Given the description of an element on the screen output the (x, y) to click on. 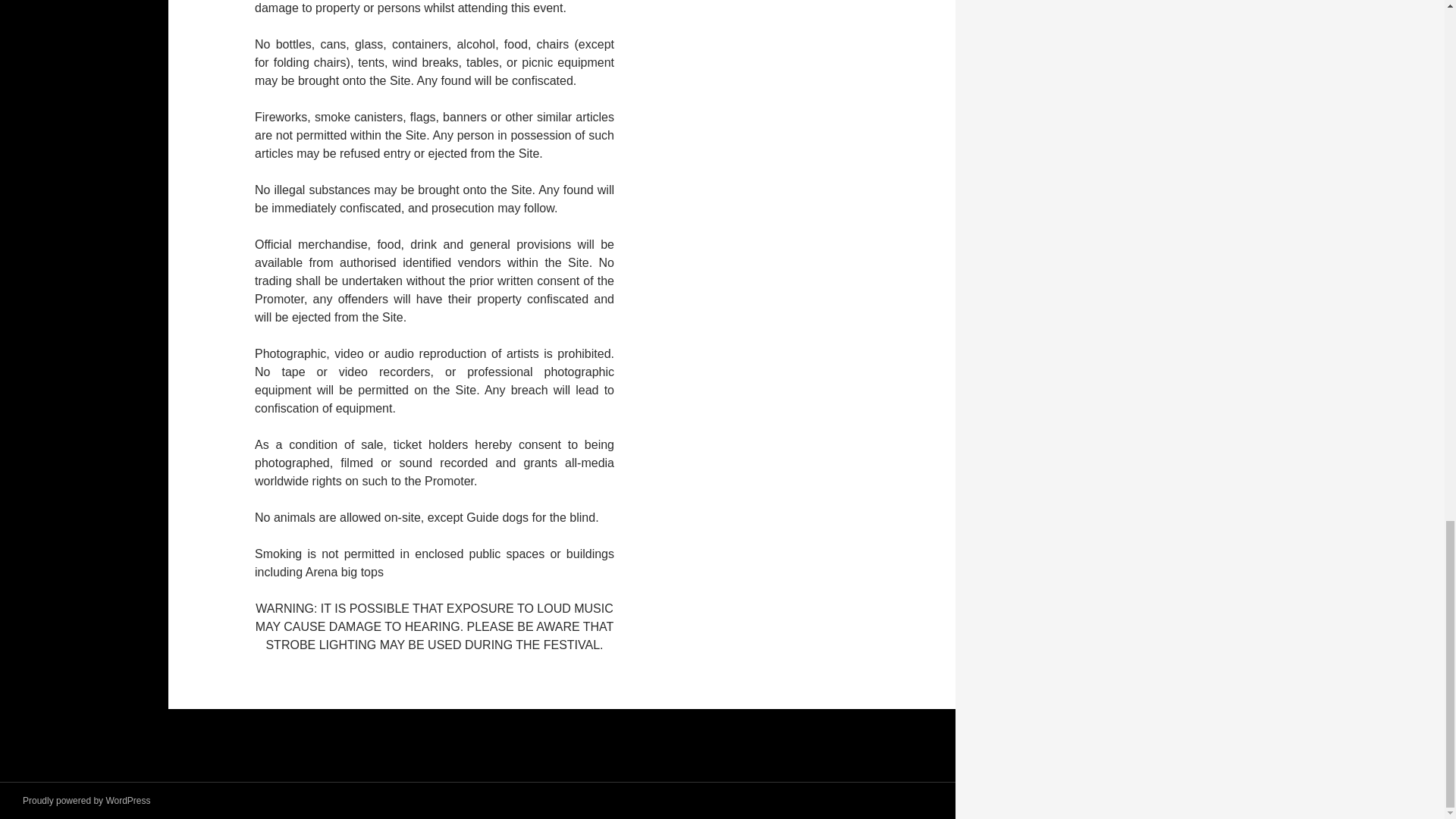
Proudly powered by WordPress (87, 800)
